Given the description of an element on the screen output the (x, y) to click on. 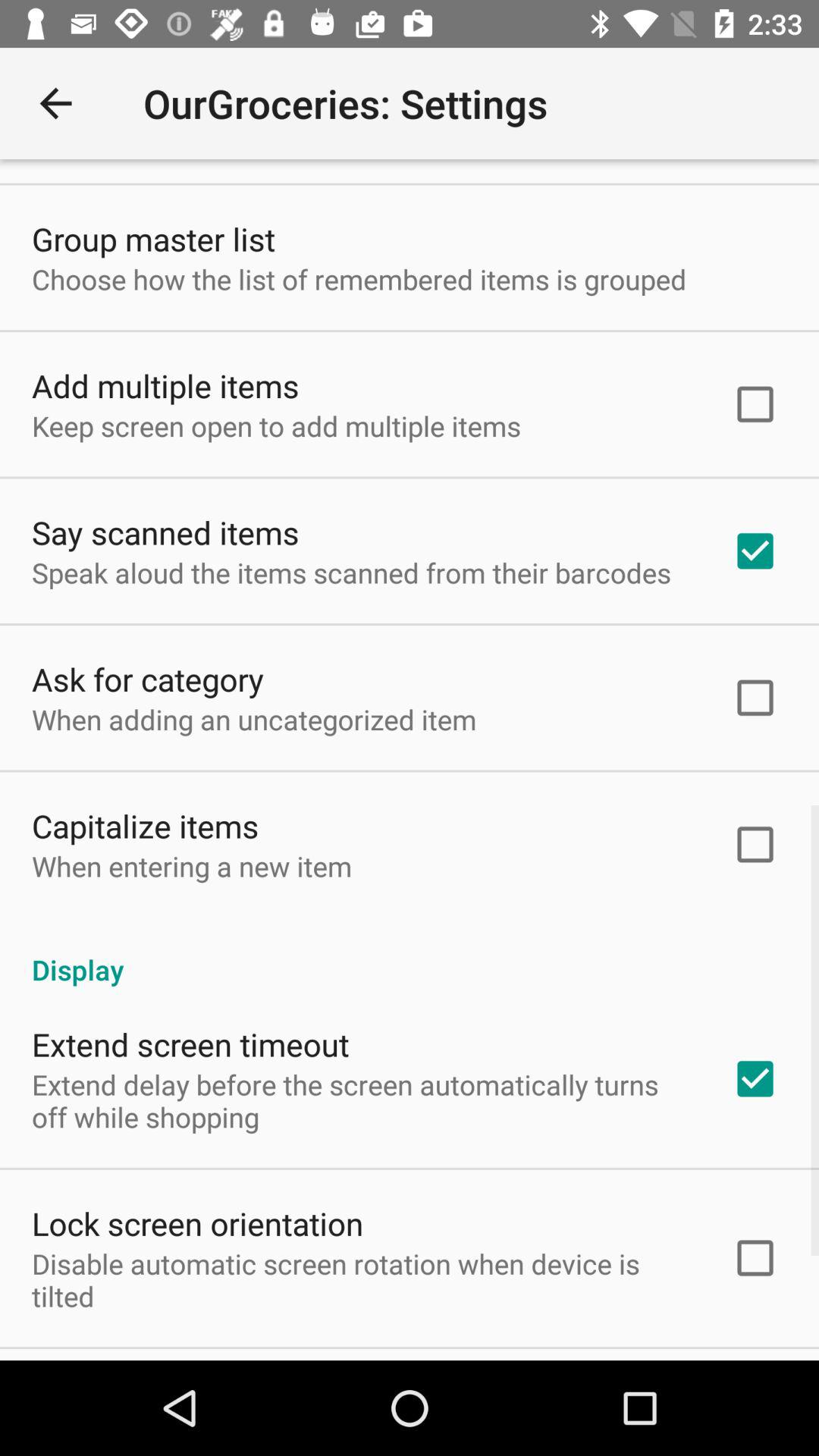
select the item below the when entering a item (409, 953)
